Given the description of an element on the screen output the (x, y) to click on. 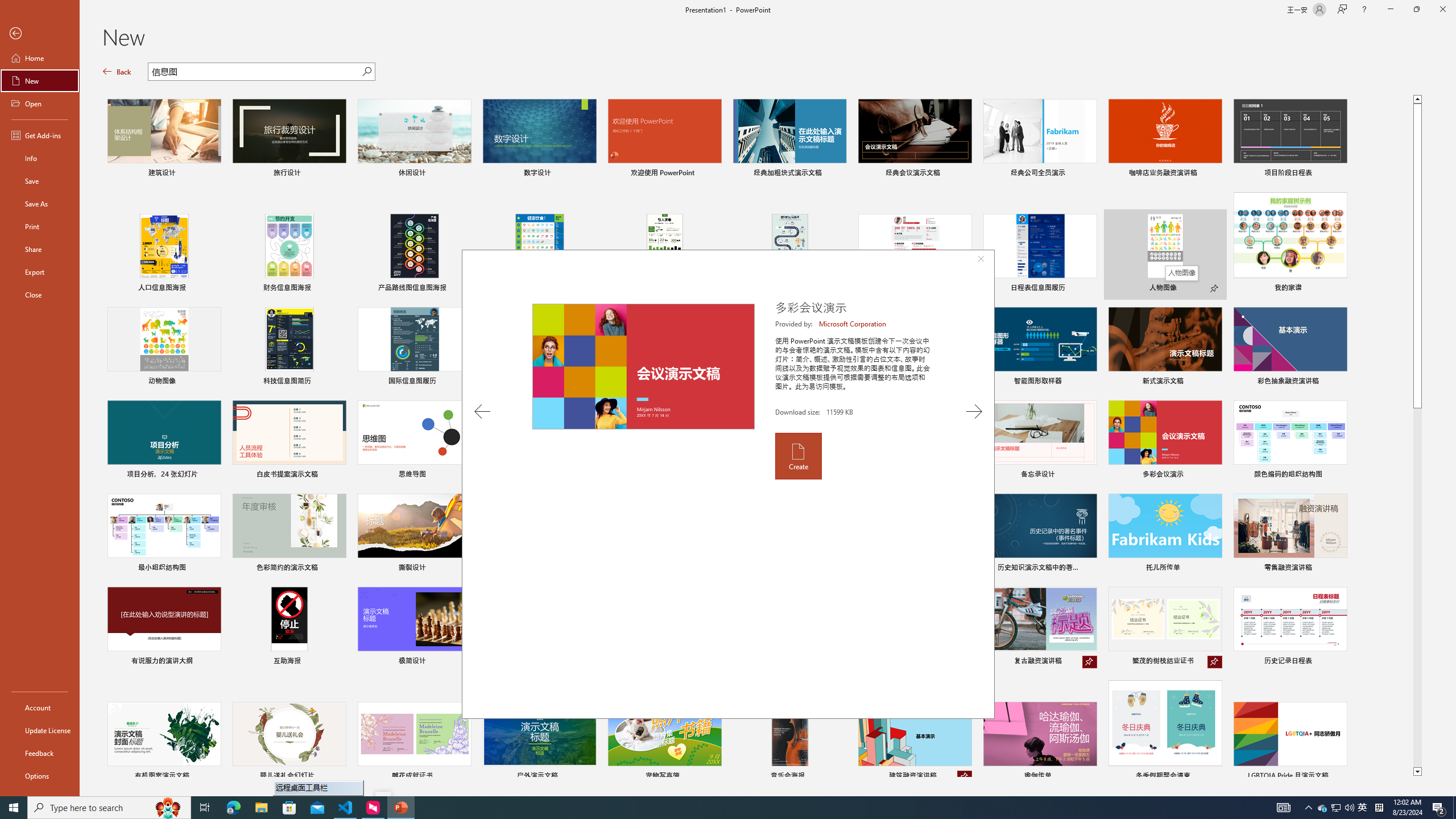
Create (797, 455)
Account (40, 707)
Get Add-ins (40, 134)
Previous Template (481, 411)
